Given the description of an element on the screen output the (x, y) to click on. 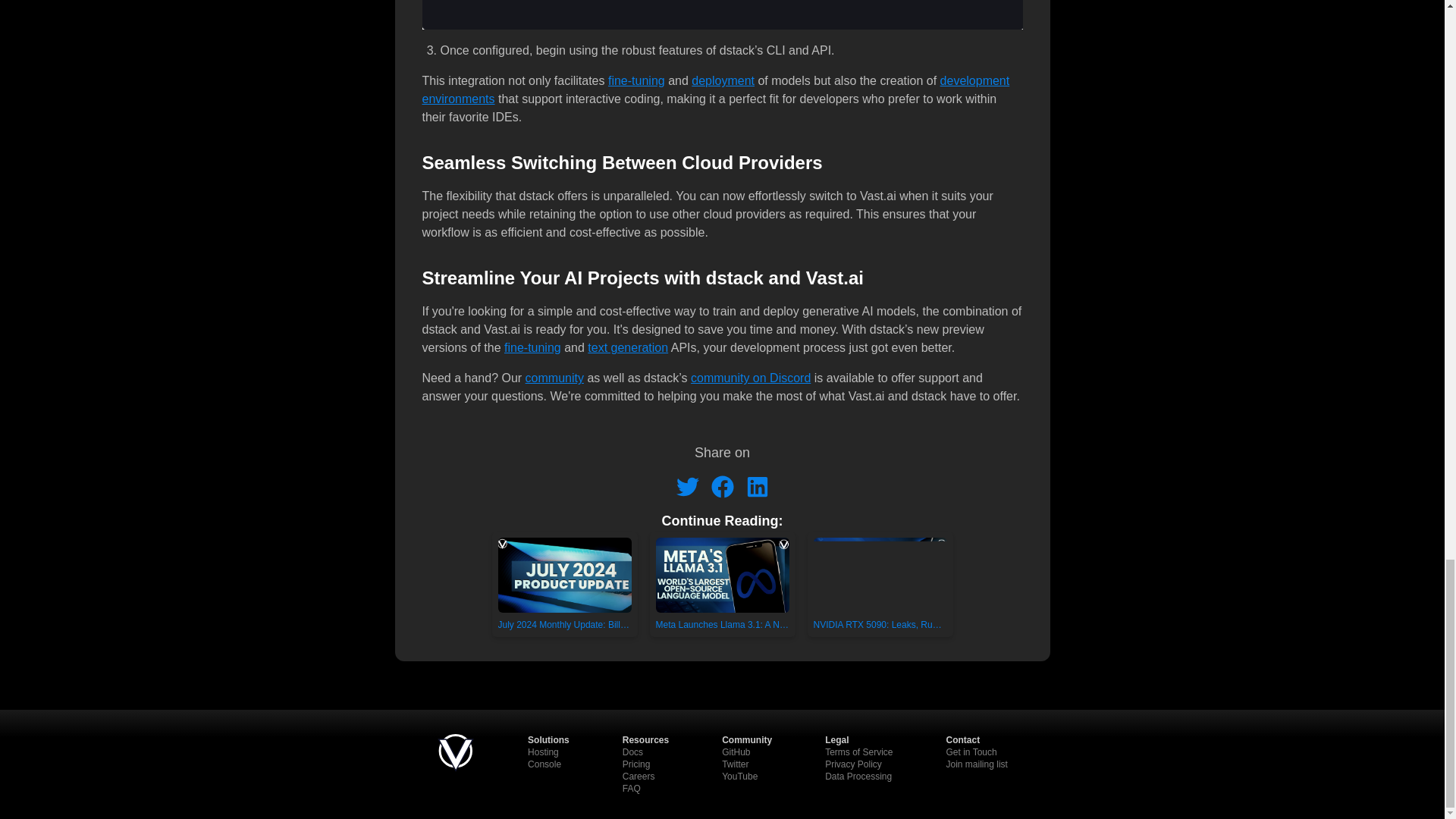
Hosting (543, 752)
fine-tuning (636, 80)
NVIDIA RTX 5090: Leaks, Rumors, and Next-Gen GPU Performance (879, 584)
community (554, 377)
deployment (722, 80)
Meta Launches Llama 3.1: A New Era in Open-Source AI (722, 583)
community on Discord (750, 377)
text generation (628, 347)
